Given the description of an element on the screen output the (x, y) to click on. 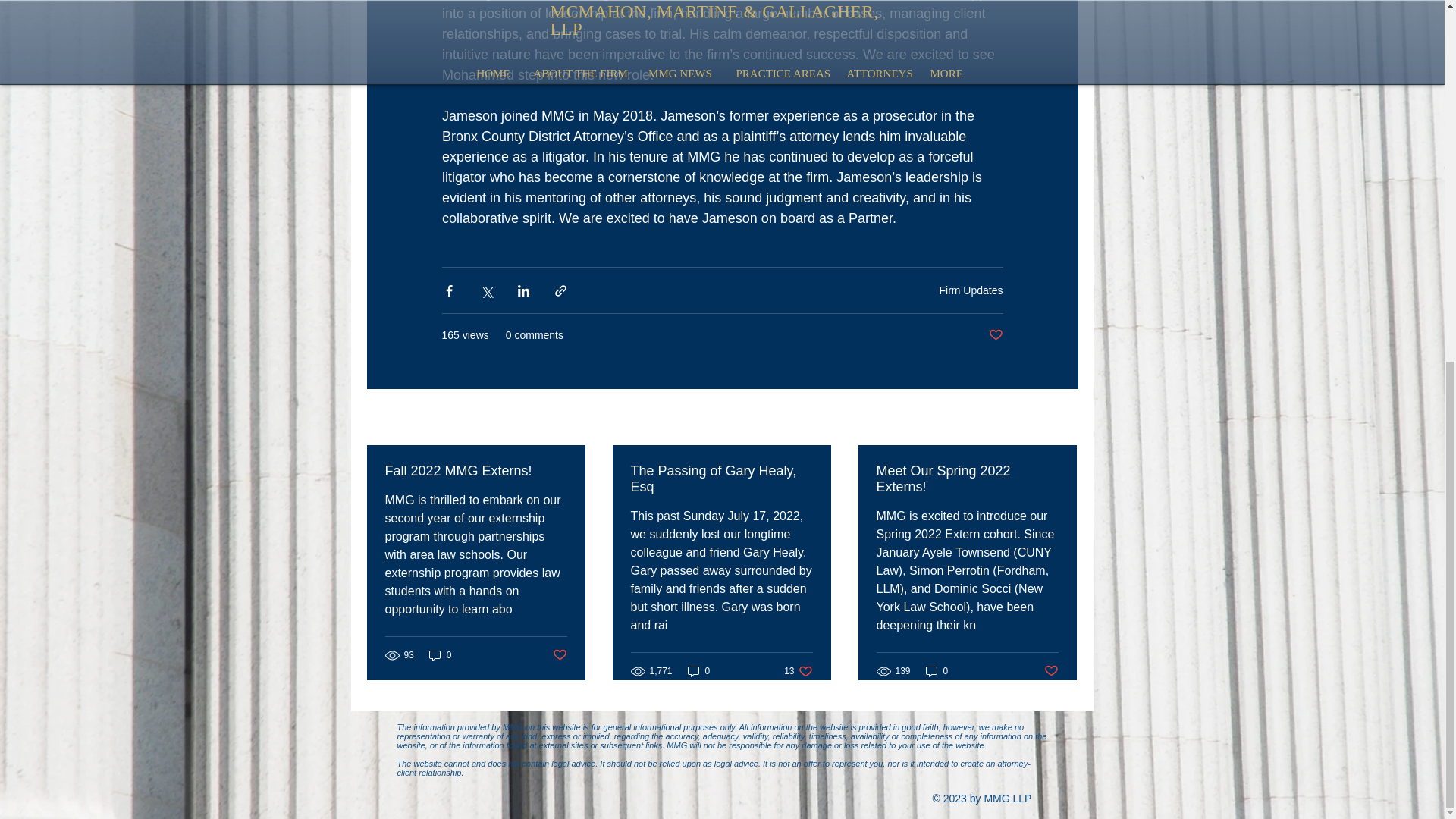
0 (798, 671)
Meet Our Spring 2022 Externs! (937, 671)
See All (967, 479)
The Passing of Gary Healy, Esq (1061, 418)
Firm Updates (721, 479)
0 (971, 289)
Post not marked as liked (698, 671)
Post not marked as liked (1050, 670)
Post not marked as liked (558, 655)
0 (995, 335)
Fall 2022 MMG Externs! (440, 654)
